Given the description of an element on the screen output the (x, y) to click on. 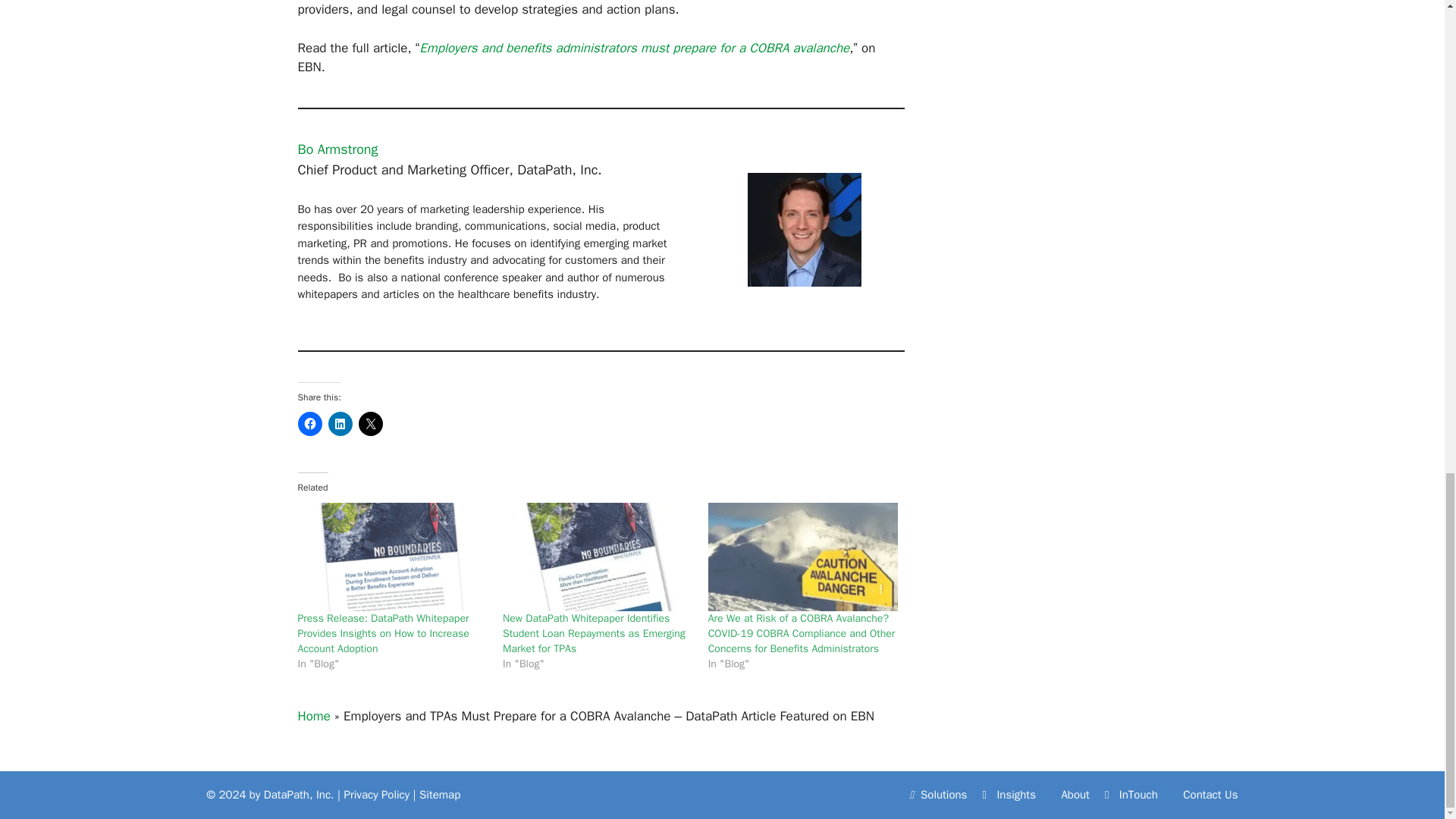
Click to share on LinkedIn (339, 423)
Bo Armstrong (337, 149)
Click to share on Facebook (309, 423)
Click to share on X (369, 423)
Home (313, 715)
